Given the description of an element on the screen output the (x, y) to click on. 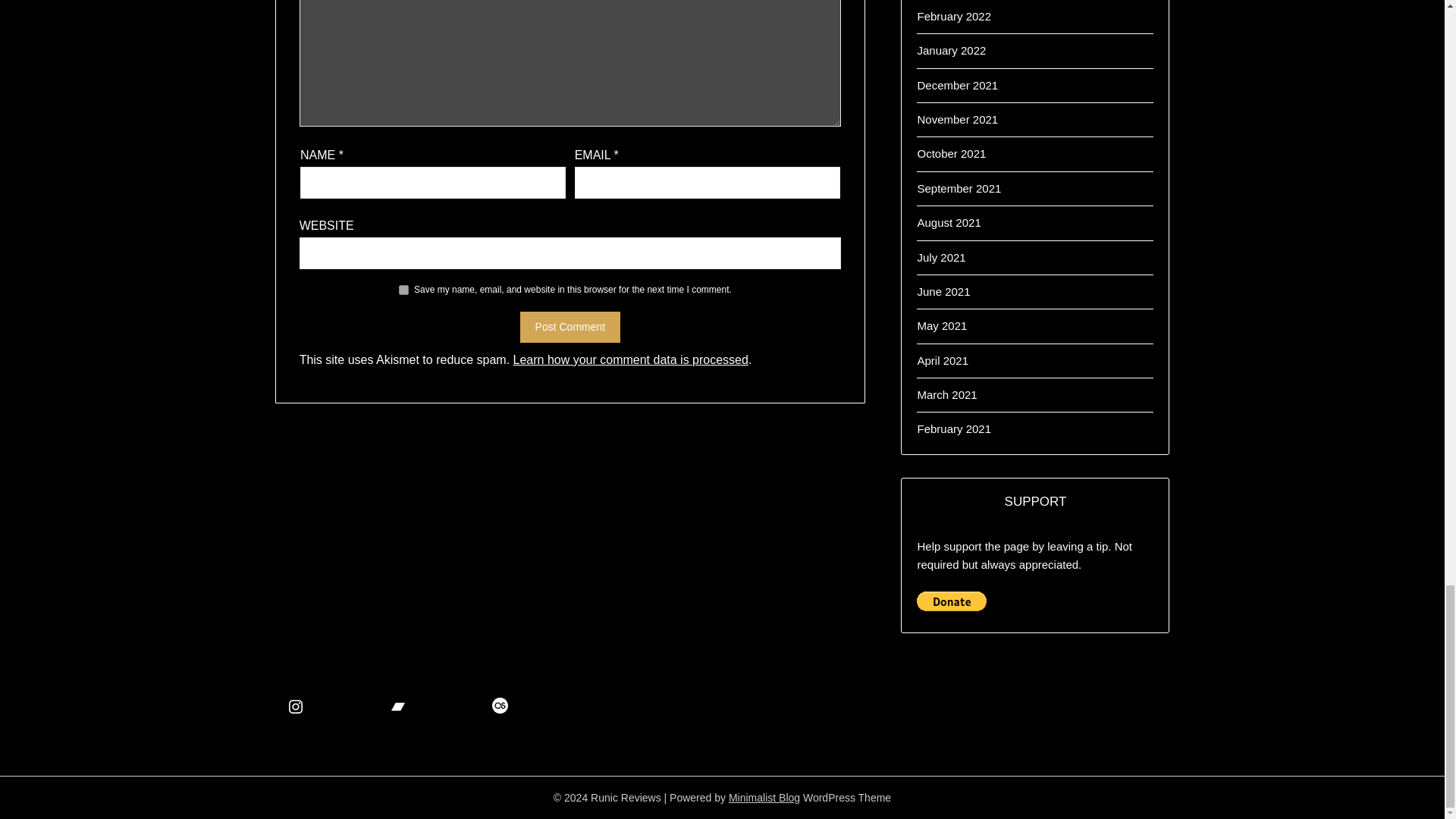
Post Comment (570, 327)
yes (403, 289)
Post Comment (570, 327)
Learn how your comment data is processed (630, 359)
